Given the description of an element on the screen output the (x, y) to click on. 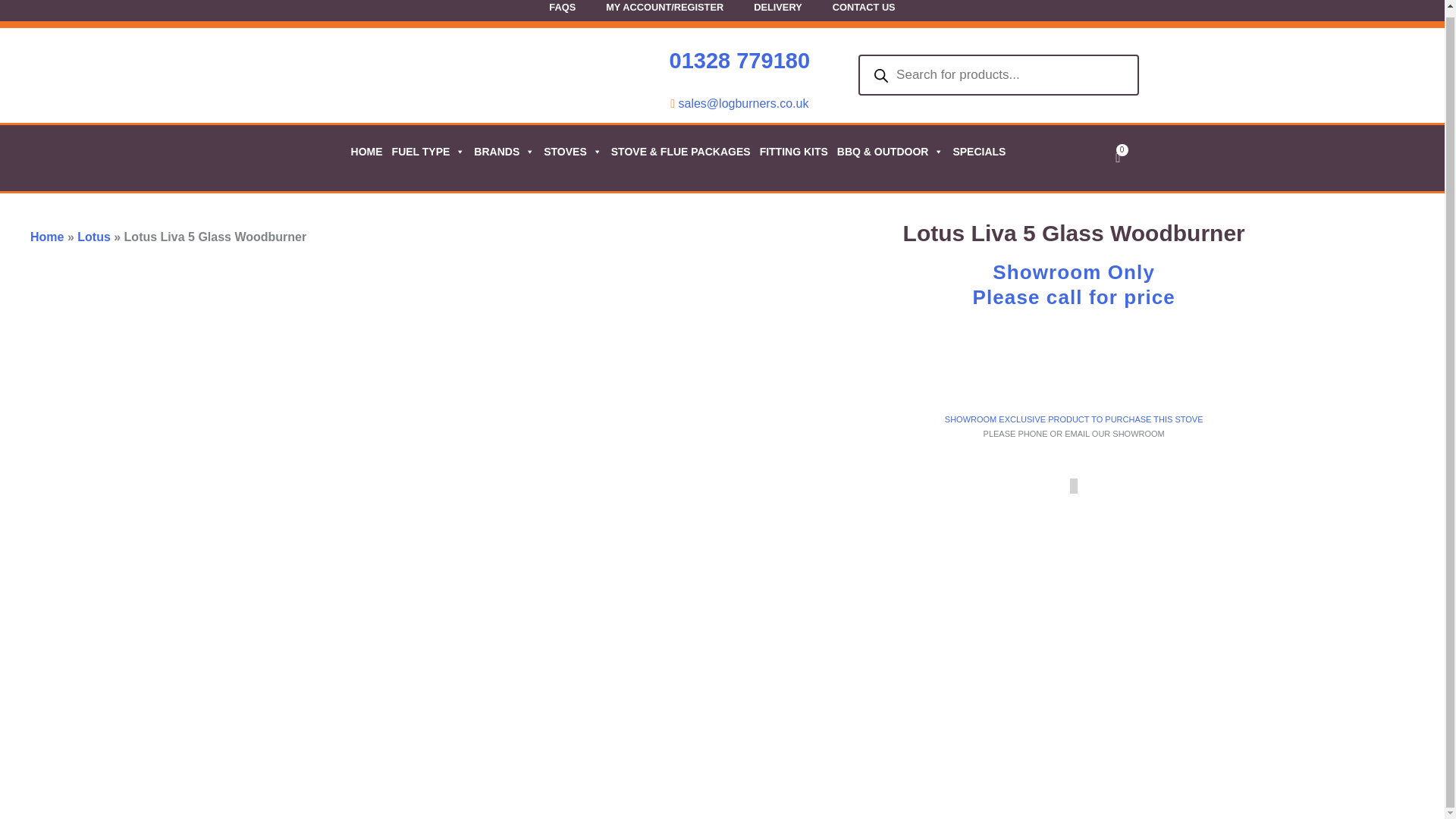
FAQS (562, 12)
DELIVERY (777, 12)
BRANDS (502, 151)
View brand (1265, 368)
CONTACT US (863, 12)
01328 779180 (739, 60)
HOME (365, 151)
FUEL TYPE (427, 151)
